Given the description of an element on the screen output the (x, y) to click on. 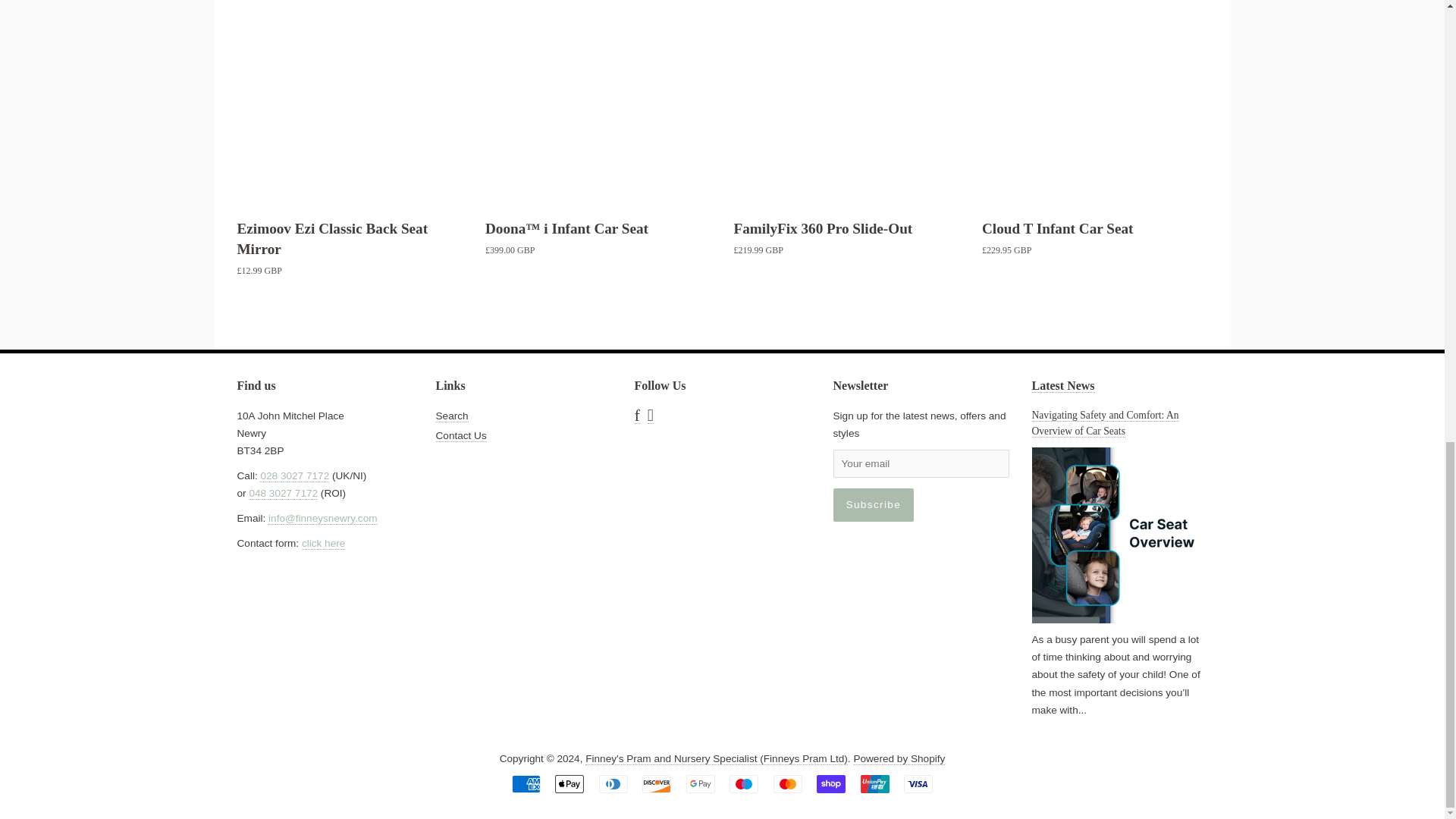
Google Pay (699, 783)
Diners Club (612, 783)
Contact Us (323, 543)
Shop Pay (830, 783)
tel:04830277172 (282, 493)
Visa (918, 783)
Apple Pay (568, 783)
American Express (526, 783)
Mastercard (787, 783)
Discover (656, 783)
